Given the description of an element on the screen output the (x, y) to click on. 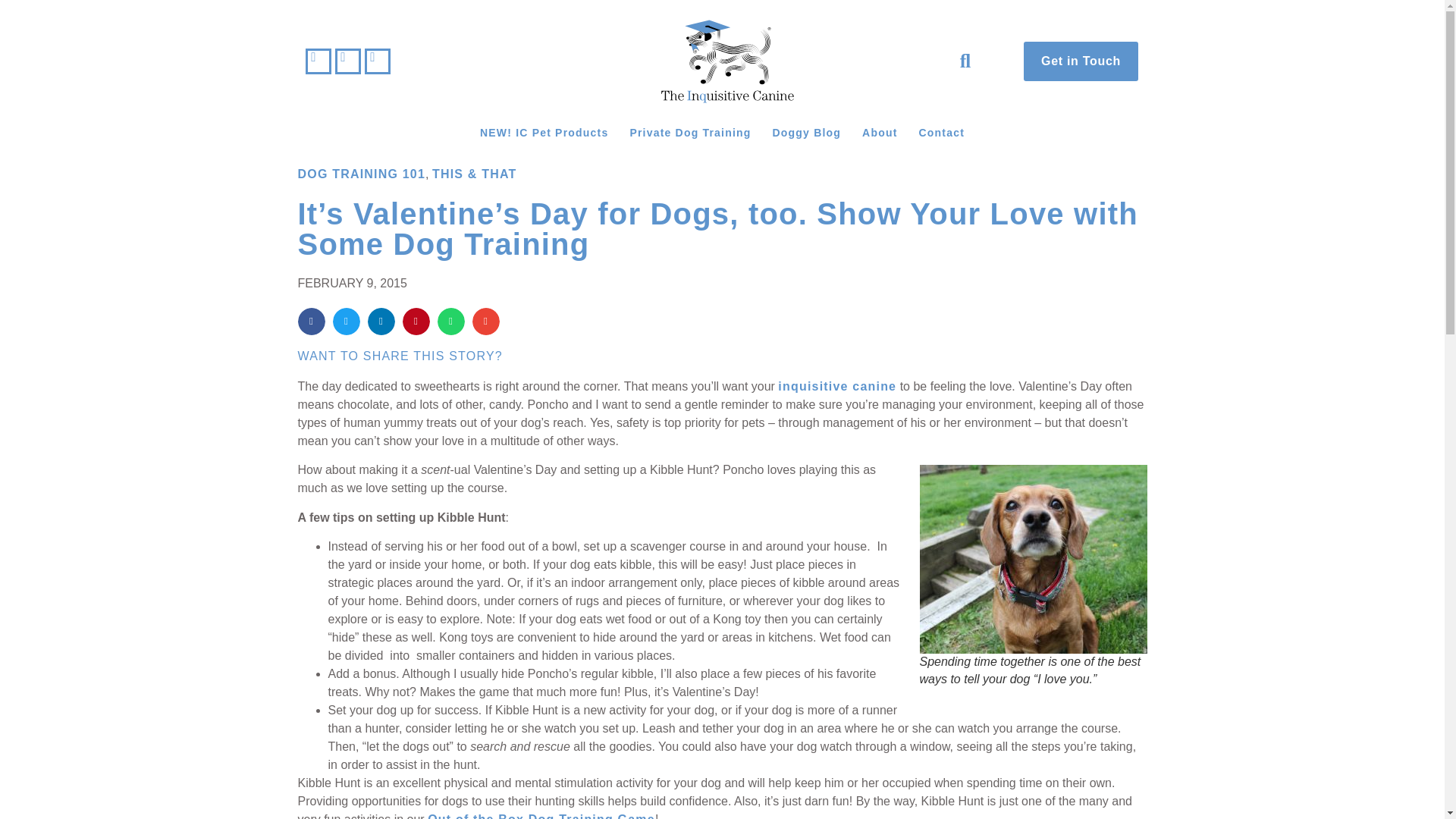
Contact (941, 132)
NEW! IC Pet Products (543, 132)
Doggy Blog (806, 132)
Get in Touch (1080, 61)
About (879, 132)
Private Dog Training (689, 132)
